Given the description of an element on the screen output the (x, y) to click on. 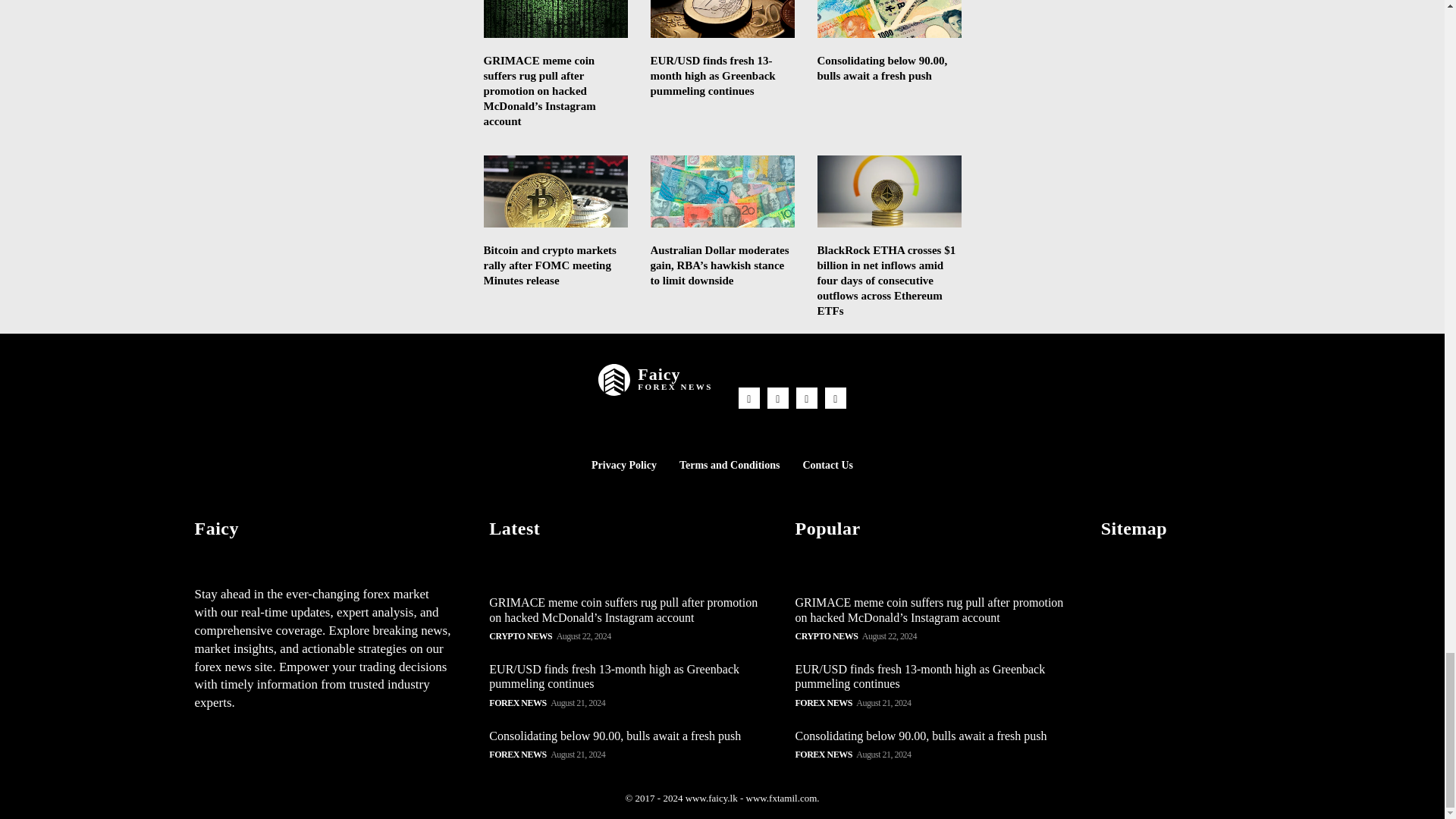
Instagram (778, 397)
Twitter (806, 397)
Youtube (835, 397)
Facebook (749, 397)
